Given the description of an element on the screen output the (x, y) to click on. 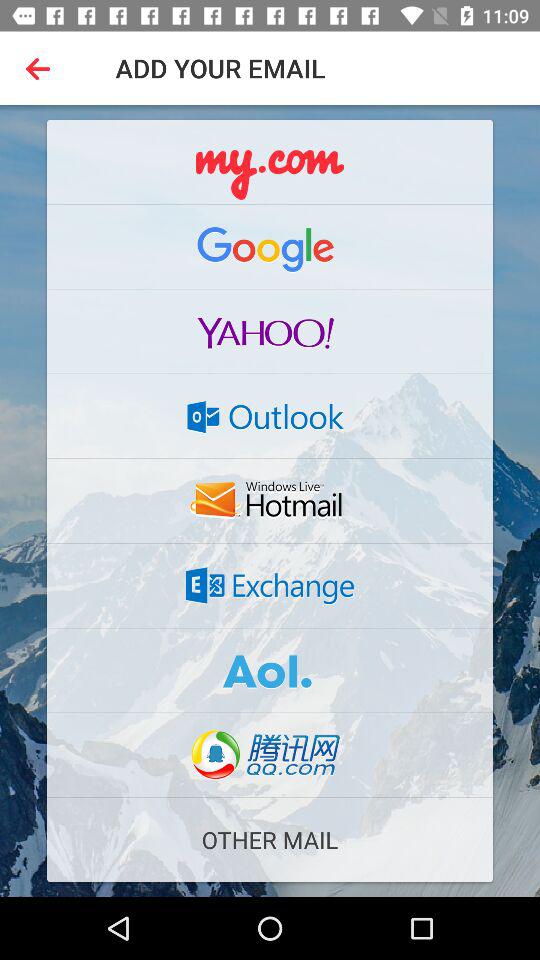
add yahoo email (269, 331)
